Given the description of an element on the screen output the (x, y) to click on. 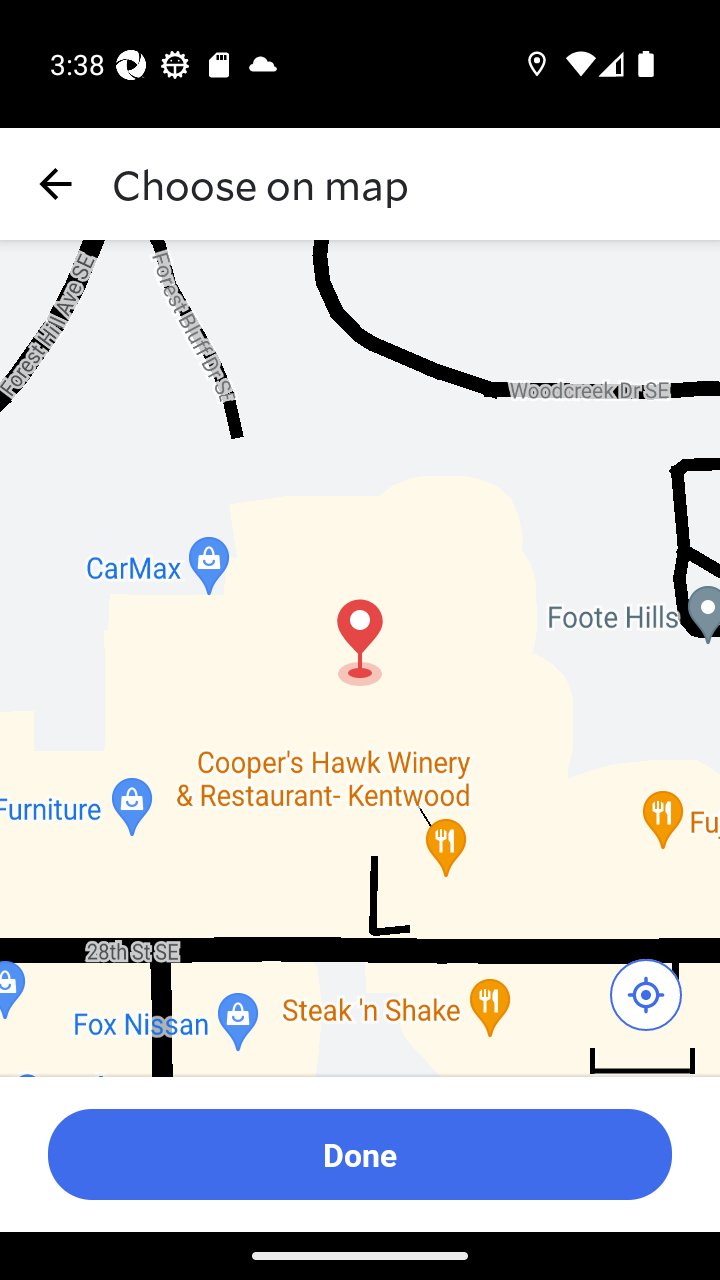
navigation_button (56, 184)
Done (359, 1154)
